Given the description of an element on the screen output the (x, y) to click on. 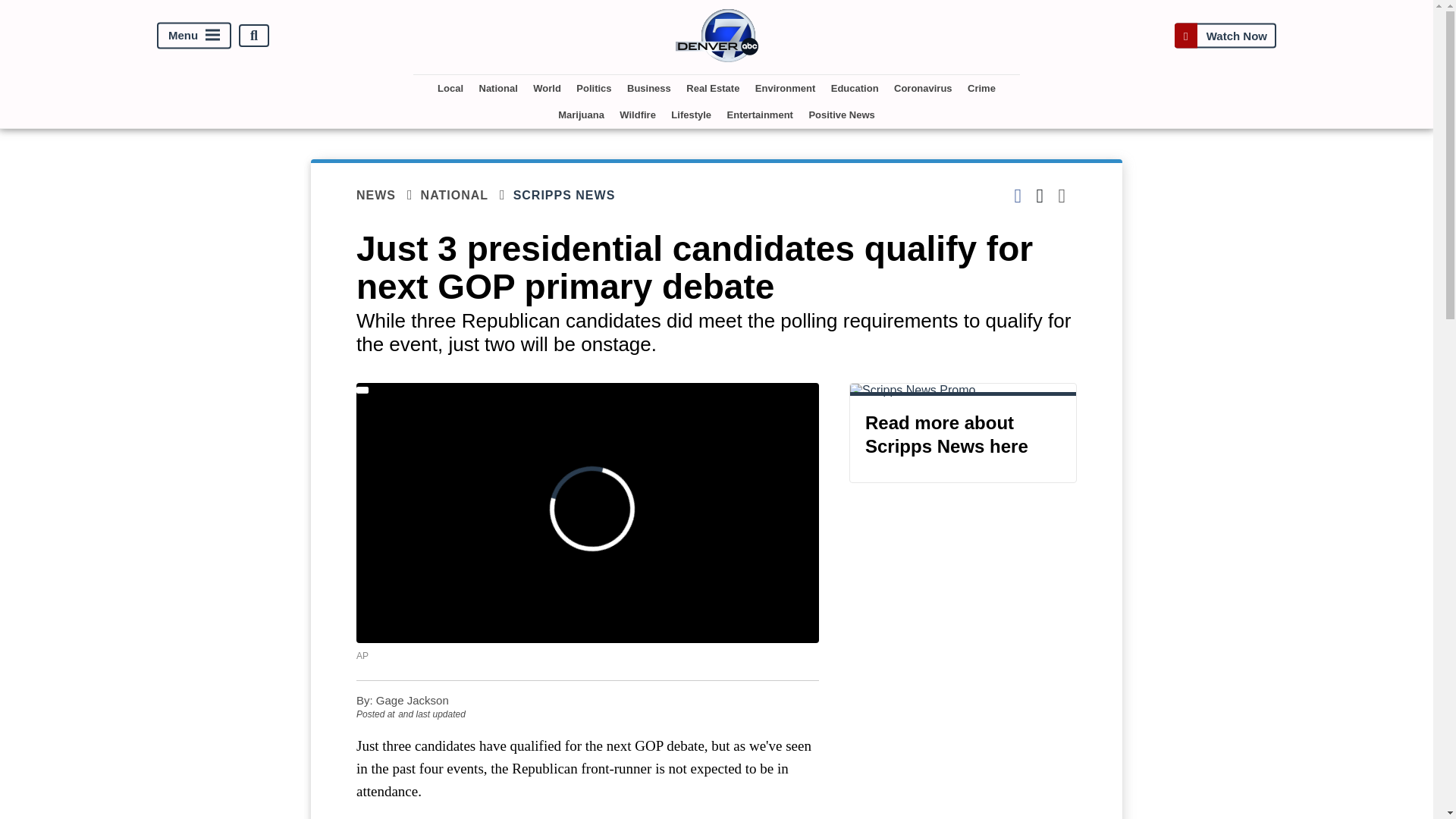
Menu (194, 35)
Watch Now (1224, 34)
